Given the description of an element on the screen output the (x, y) to click on. 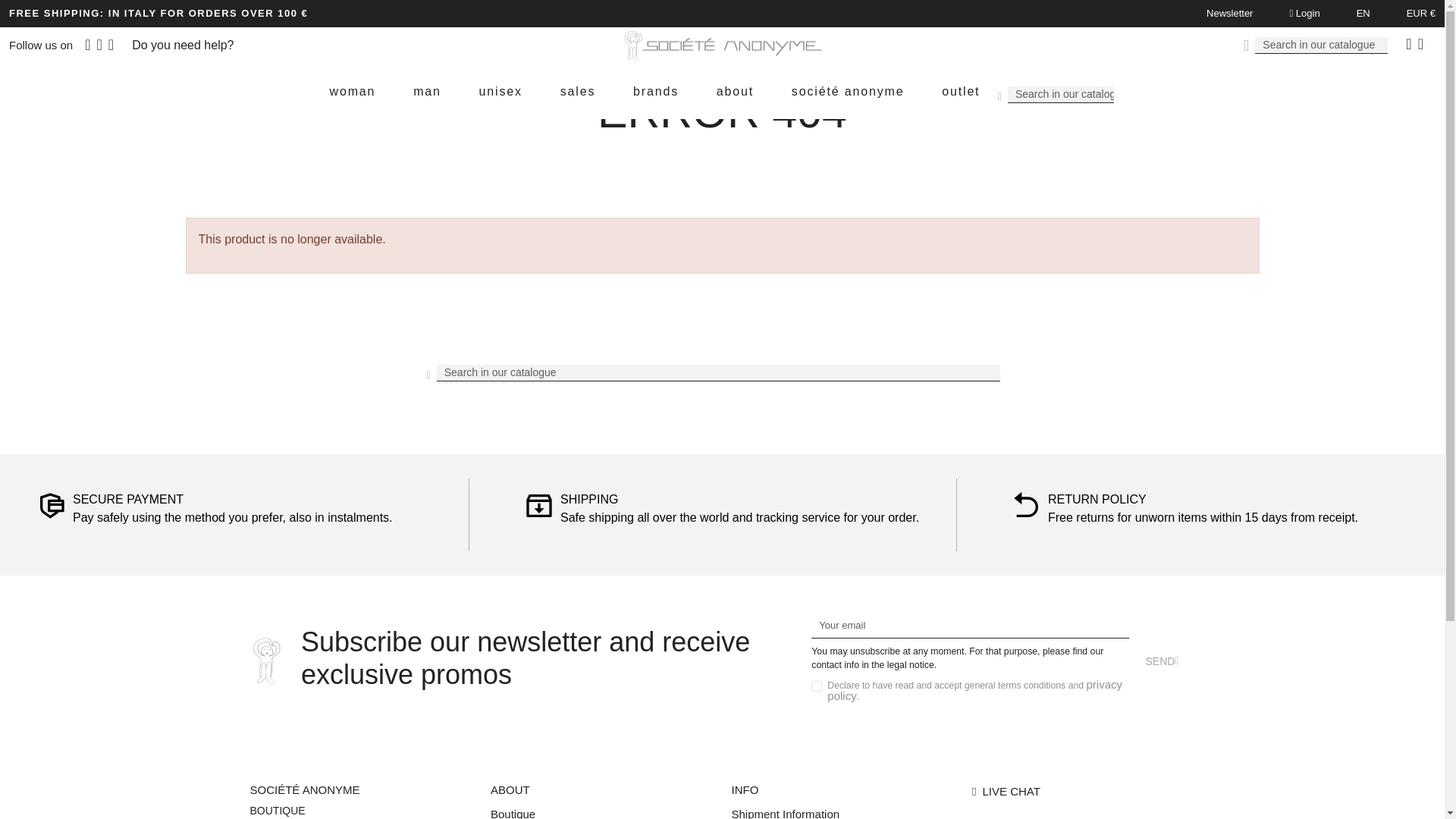
1 (816, 685)
EN (1363, 12)
Login to your customer account (1303, 12)
woman (353, 91)
Do you need help? (182, 44)
Do you need help? (182, 44)
Login (1303, 12)
man (427, 91)
Newsletter (1229, 13)
woman (353, 91)
